Given the description of an element on the screen output the (x, y) to click on. 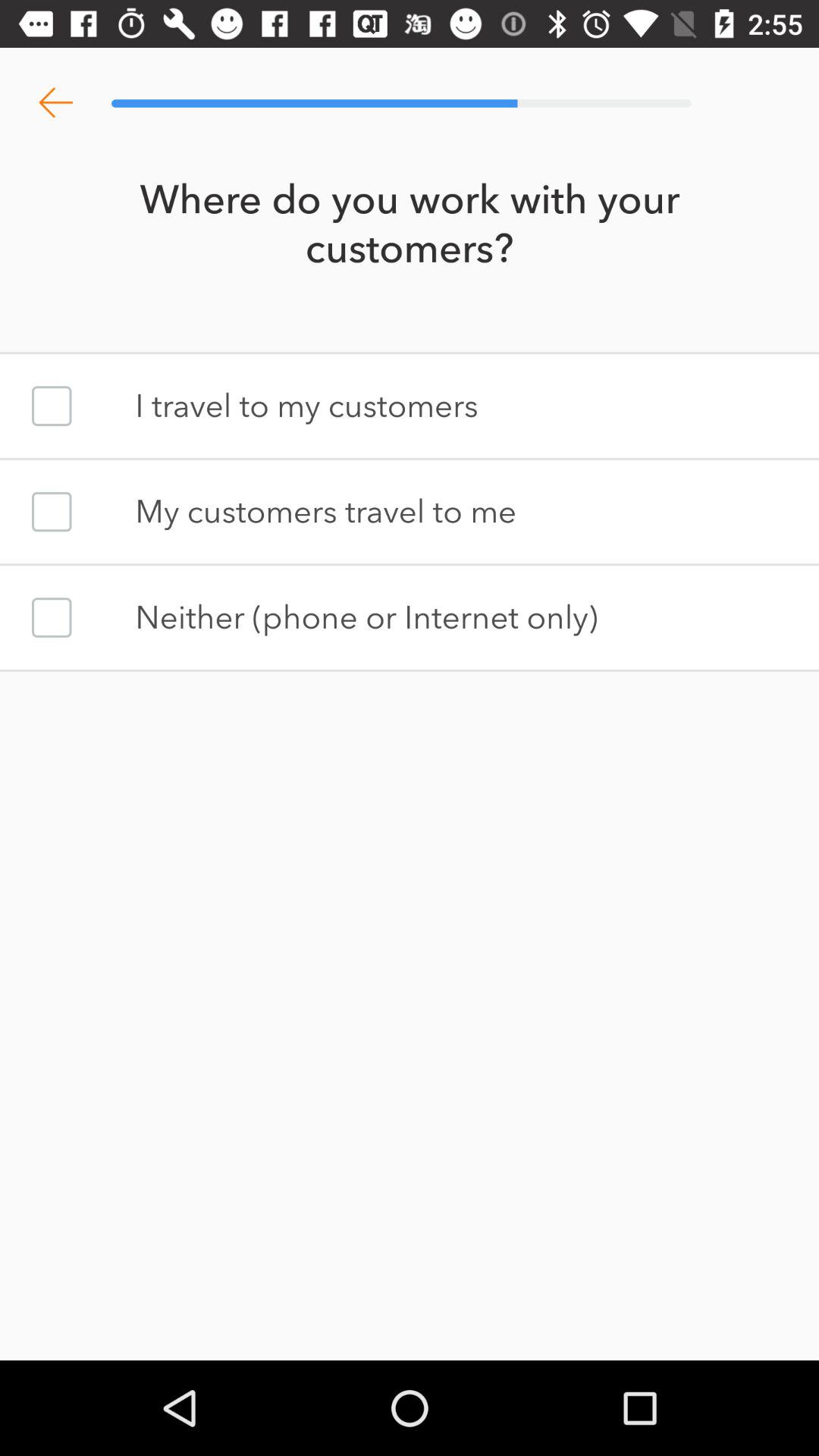
selection button (51, 511)
